Given the description of an element on the screen output the (x, y) to click on. 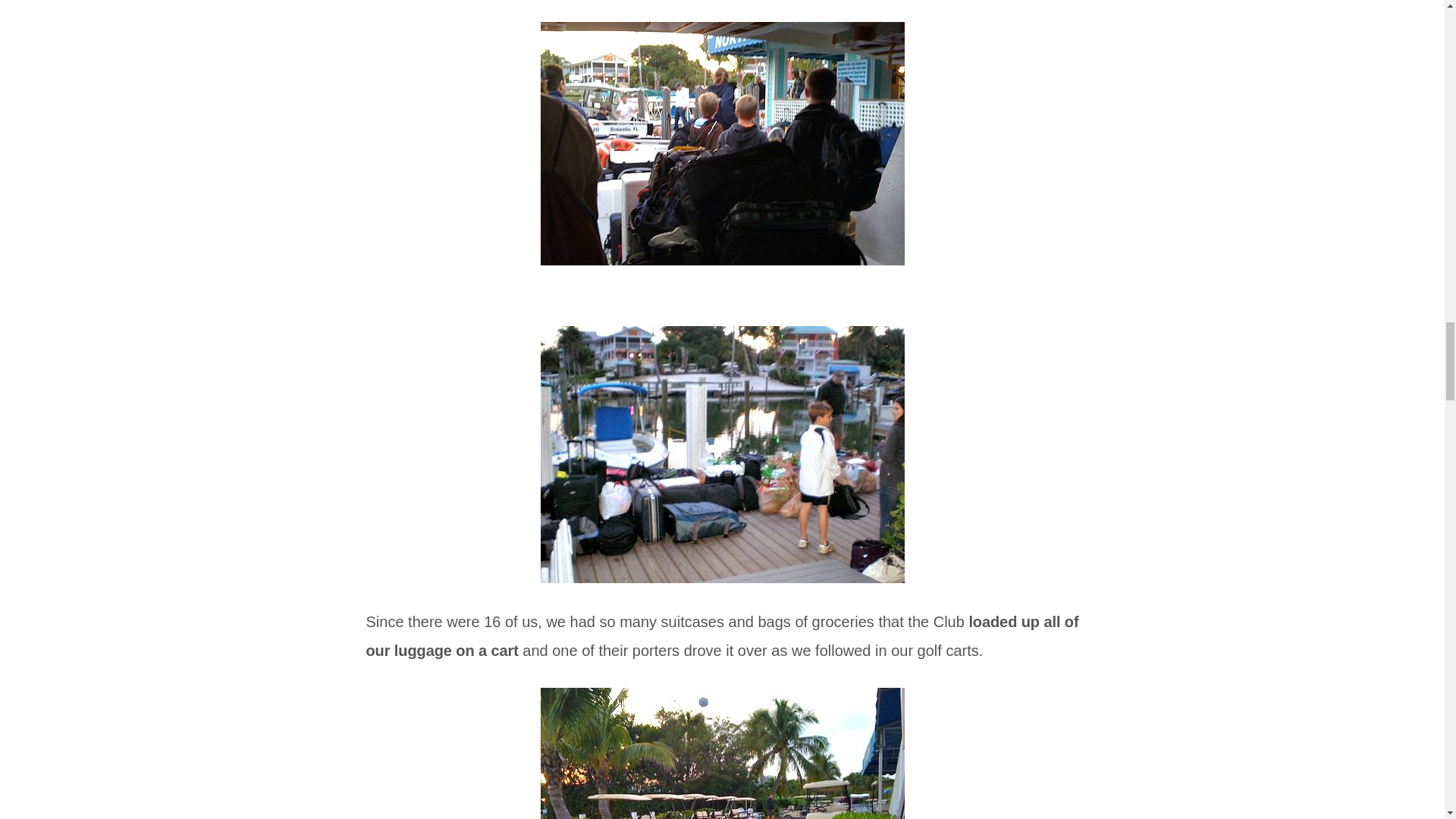
north captiva island ferry (722, 142)
north captiva club (722, 753)
north captiva island club resort (722, 454)
